Given the description of an element on the screen output the (x, y) to click on. 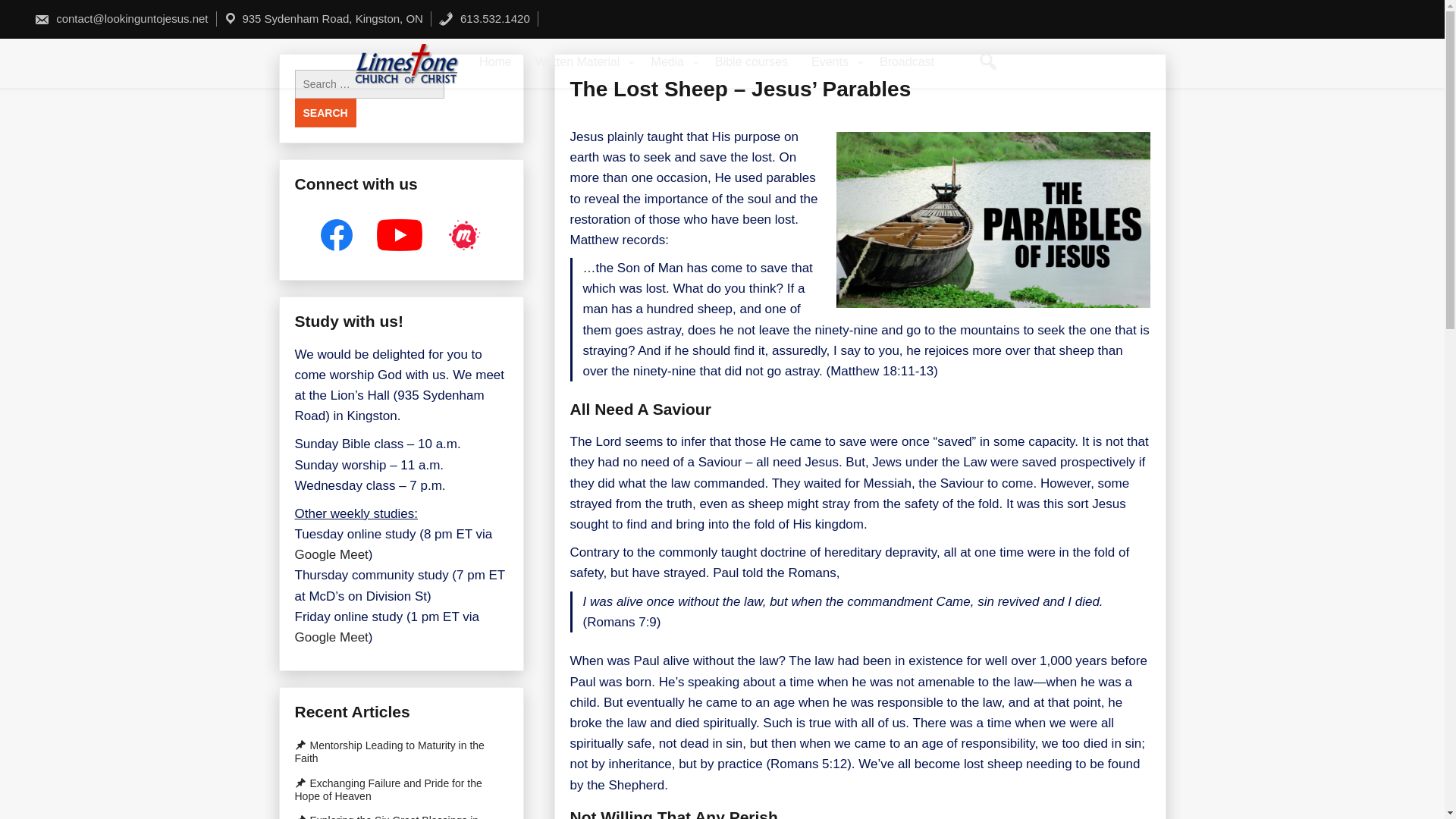
613.532.1420 (483, 18)
Search (324, 112)
Search (324, 112)
Written Material (582, 62)
Home (495, 62)
Broadcast (906, 62)
Events (833, 62)
Bible courses (751, 62)
Media (671, 62)
Search (324, 112)
